Given the description of an element on the screen output the (x, y) to click on. 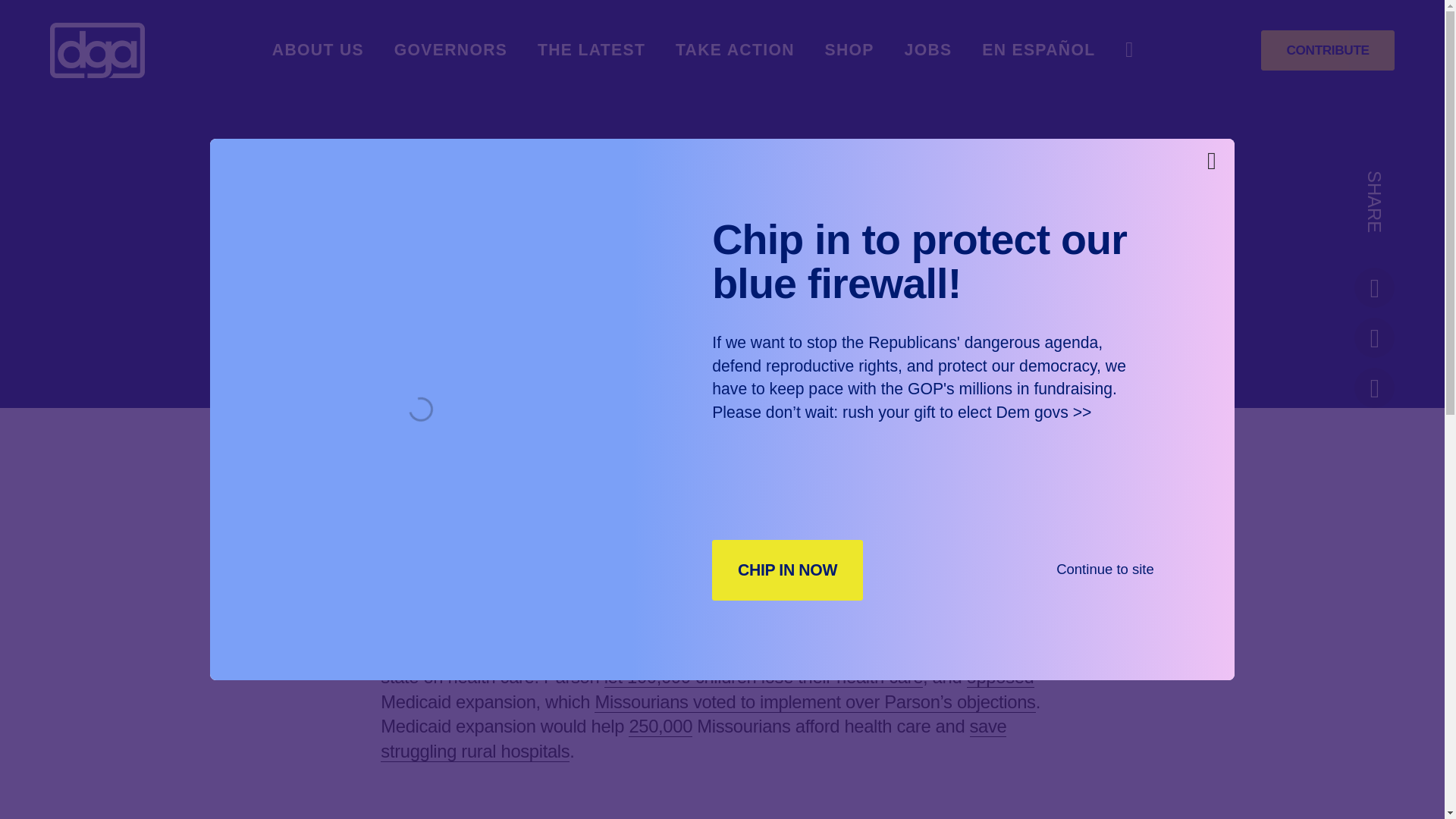
Continue to site (1105, 569)
LATEST NEWS (657, 328)
ABOUT US (318, 49)
THE LATEST (591, 49)
SHOP (850, 49)
JOBS (928, 49)
CHIP IN NOW (787, 569)
let 100,000 children lose their health care (763, 676)
save struggling rural hospitals (693, 737)
TAKE ACTION (734, 49)
CONTRIBUTE (1326, 50)
opposed (999, 676)
GOVERNORS (451, 49)
250,000 (660, 725)
